Given the description of an element on the screen output the (x, y) to click on. 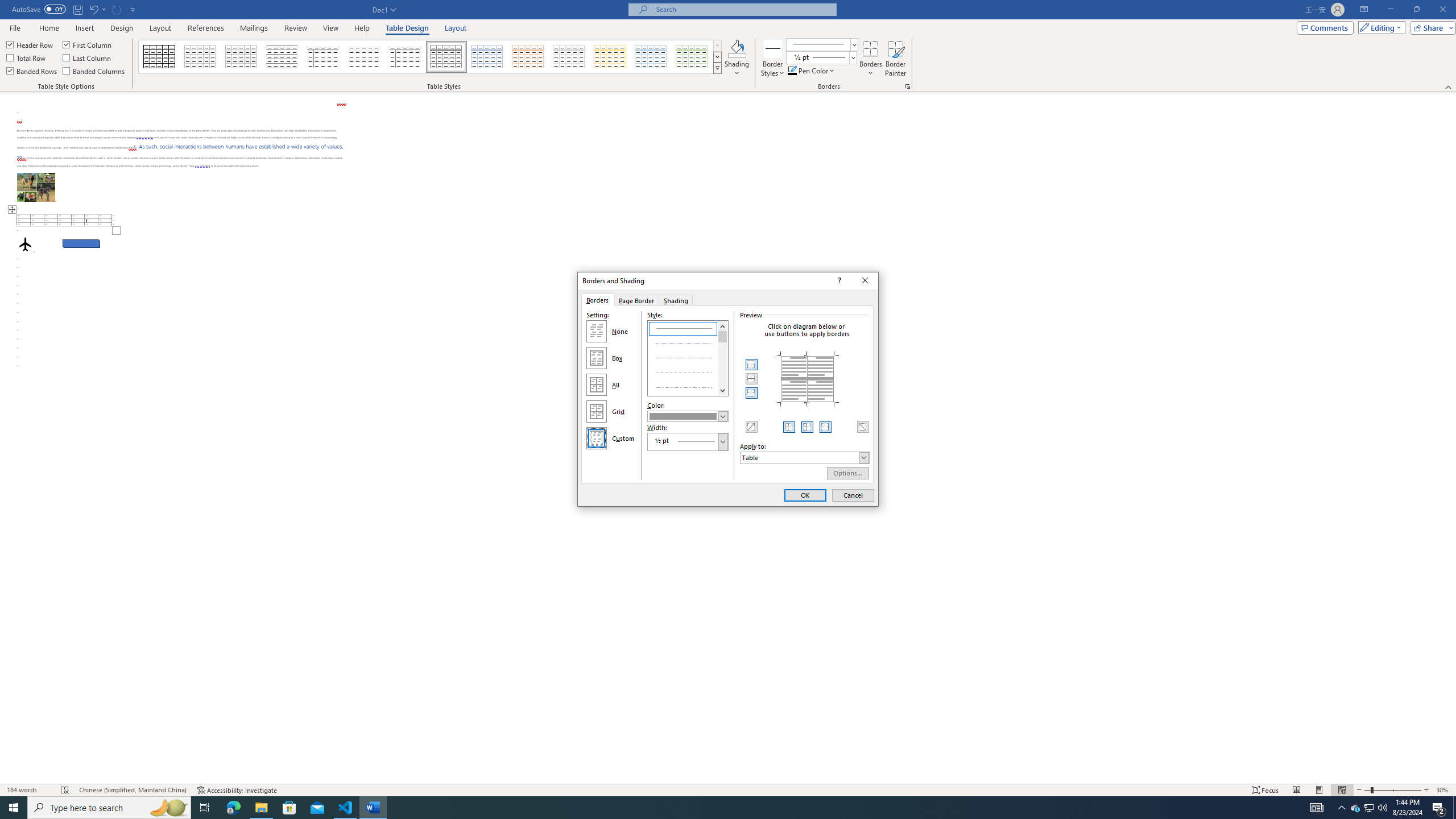
Visual Studio Code - 1 running window (345, 807)
Banded Columns (94, 69)
Inside Vertical Border (806, 426)
Morphological variation in six dogs (36, 187)
Inside Horizontal Border (751, 378)
Action Center, 2 new notifications (1439, 807)
Start (13, 807)
Zoom 30% (1443, 790)
Grid (596, 411)
Shading RGB(0, 0, 0) (737, 48)
